Given the description of an element on the screen output the (x, y) to click on. 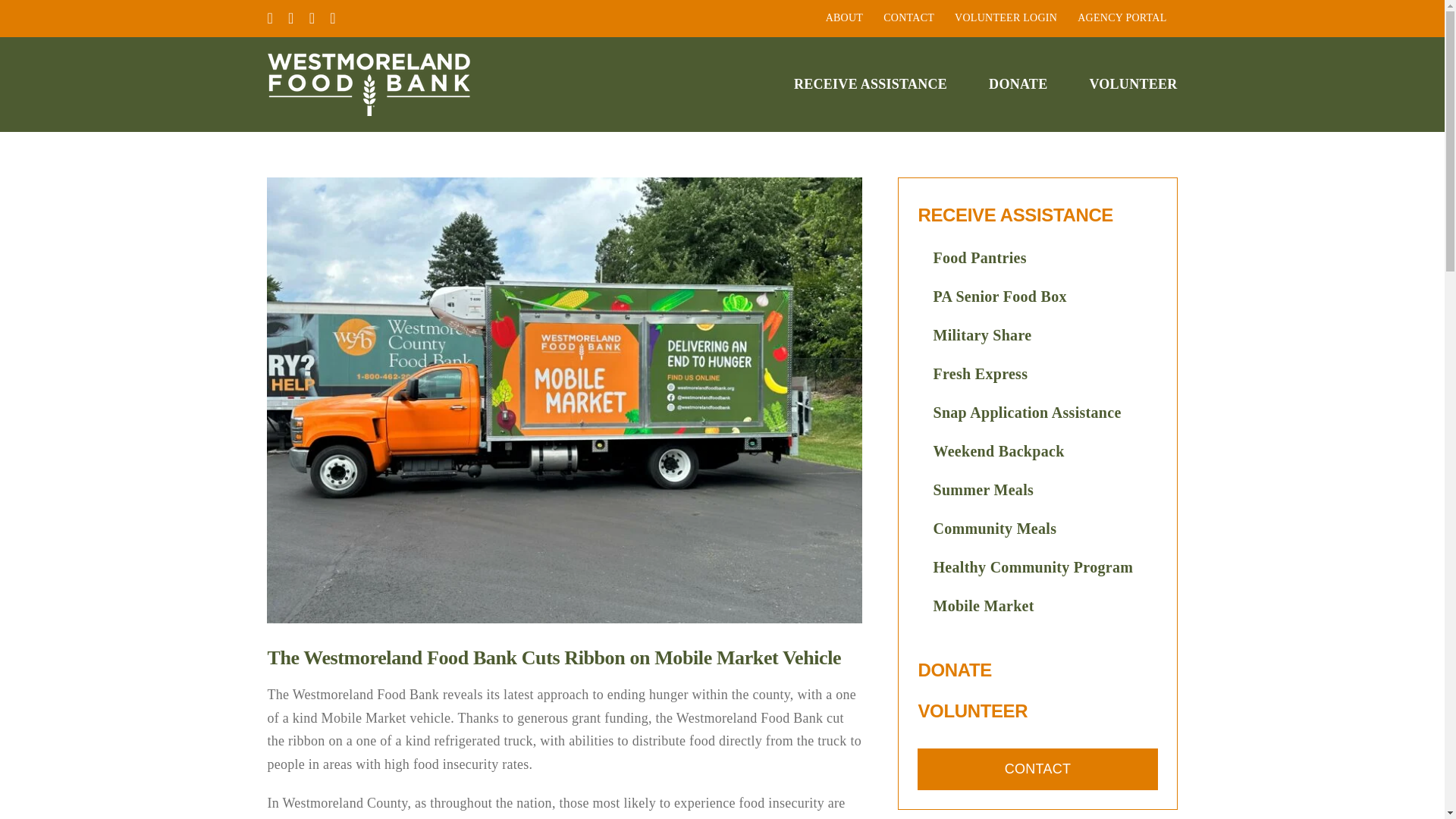
Weekend Backpack (1036, 451)
VOLUNTEER LOGIN (1005, 18)
DONATE (954, 670)
Military Share (1036, 335)
Fresh Express (1036, 373)
Community Meals (1036, 528)
Summer Meals (1036, 489)
Food Pantries (1036, 258)
Healthy Community Program (1036, 567)
VOLUNTEER (972, 711)
